Given the description of an element on the screen output the (x, y) to click on. 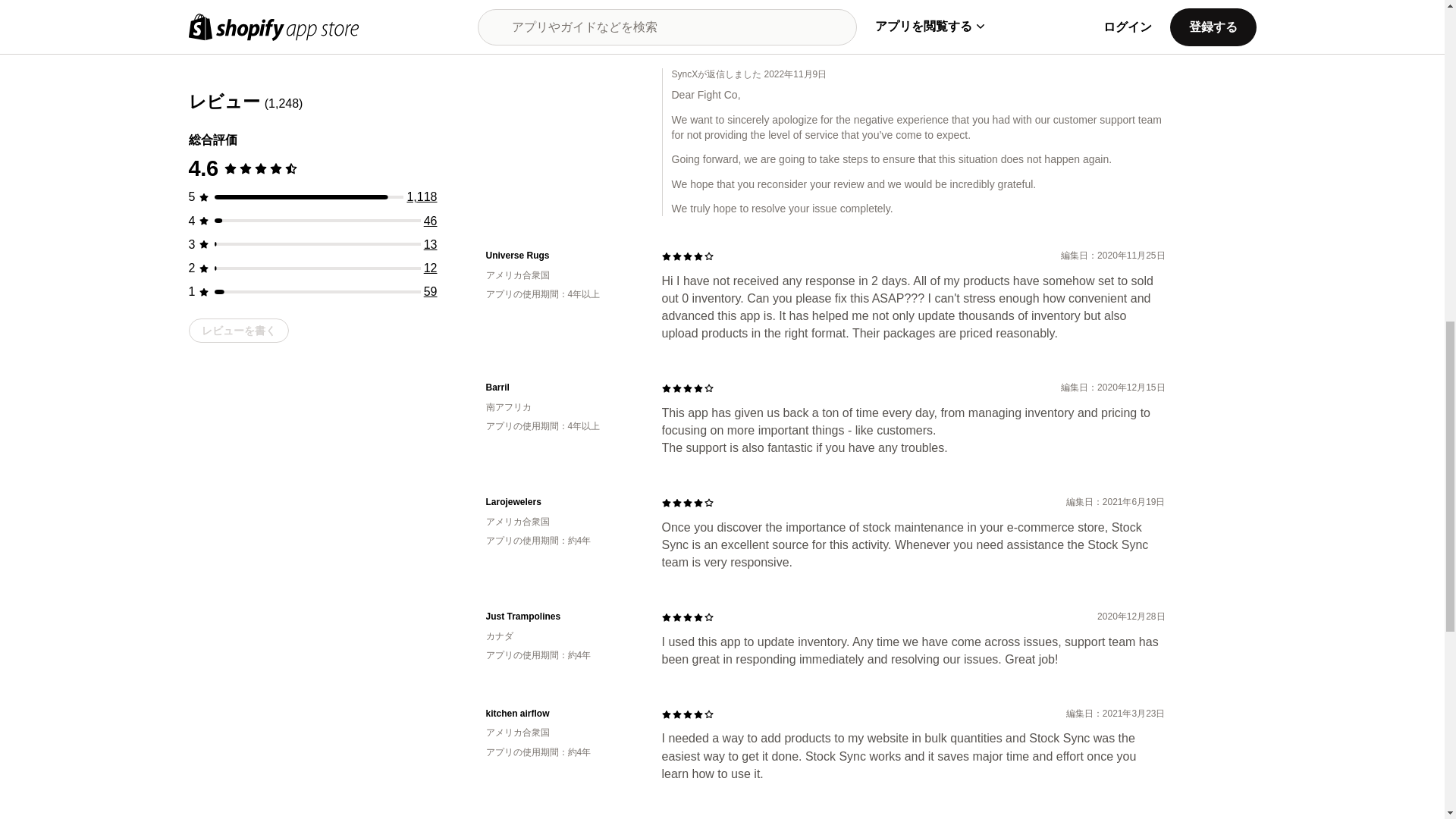
Larojewelers (560, 502)
Just Trampolines (560, 616)
kitchen airflow (560, 713)
Universe Rugs (560, 255)
Barril (560, 387)
